Given the description of an element on the screen output the (x, y) to click on. 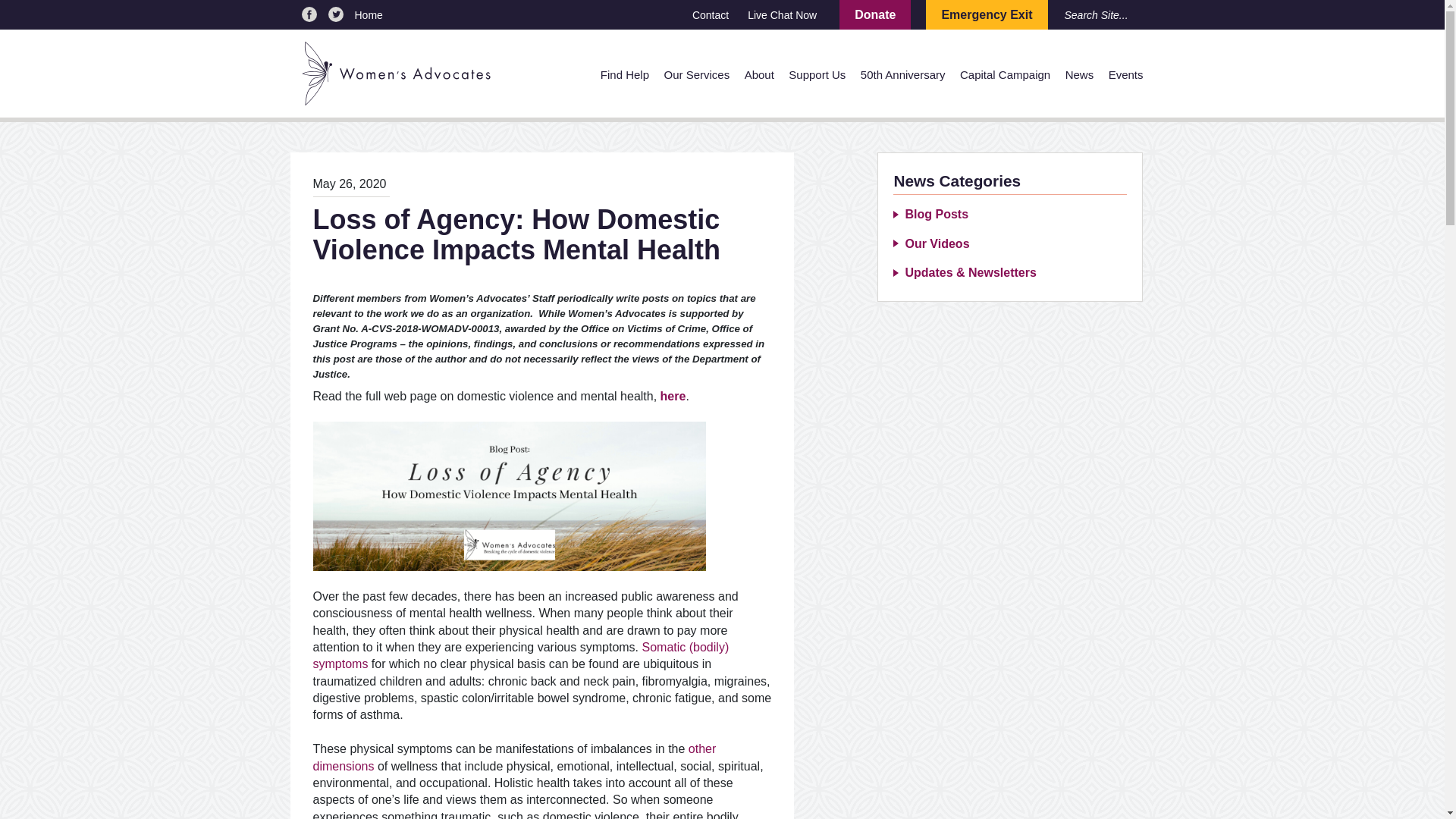
Women's Advocates (395, 70)
Capital Campaign (1004, 74)
Facebook (309, 14)
Home (524, 15)
News (1079, 74)
About (759, 74)
Emergency Exit (986, 14)
Donate (875, 14)
Our Services (696, 74)
Support Us (817, 74)
Contact (711, 15)
Events (1125, 74)
Twitter (334, 14)
Live Chat Now (782, 15)
Find Help (624, 74)
